Given the description of an element on the screen output the (x, y) to click on. 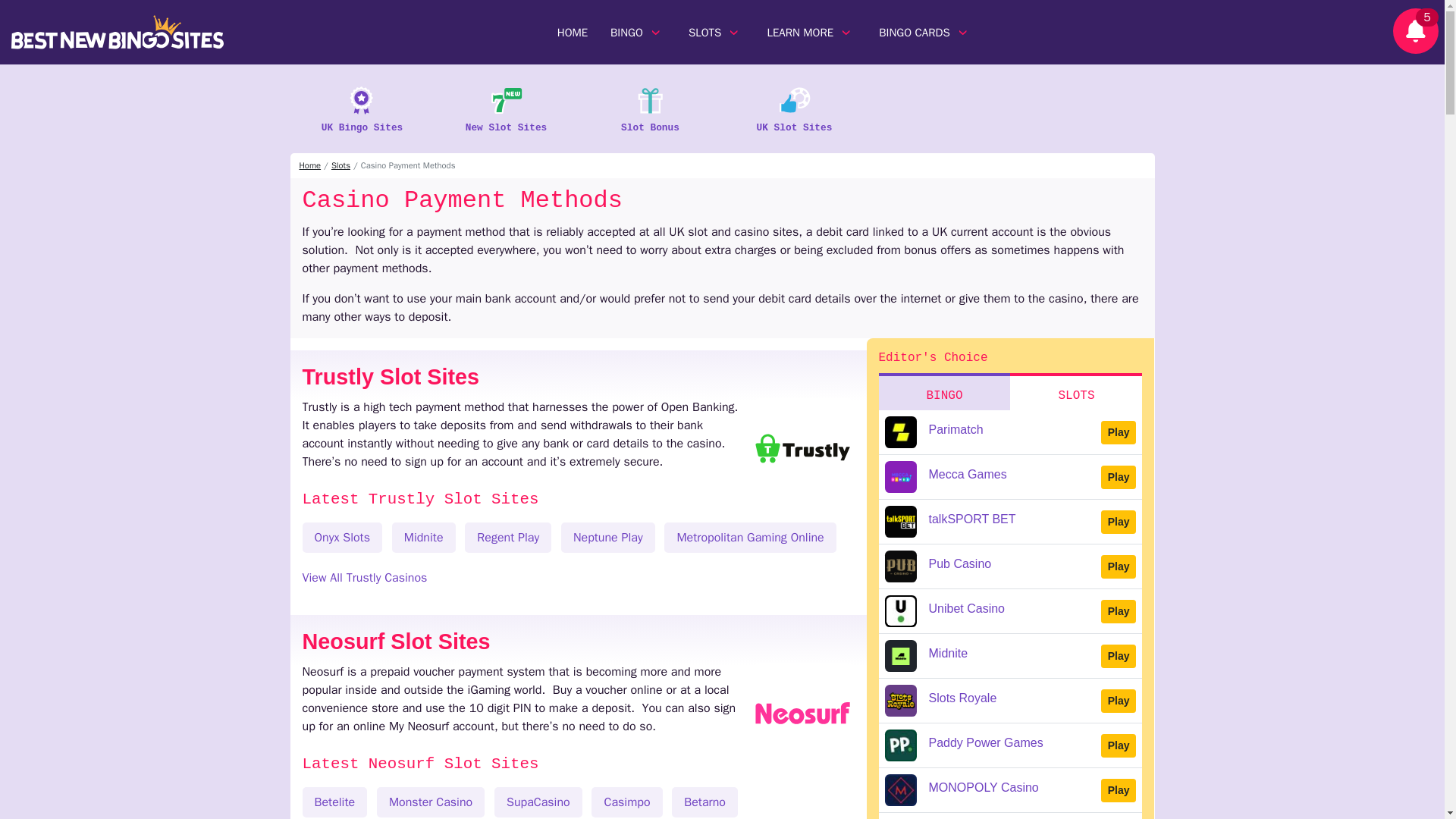
Logo Best New Bingo sites (117, 32)
UK Bingo Sites (361, 106)
Logo Best New Bingo sites (117, 30)
